Given the description of an element on the screen output the (x, y) to click on. 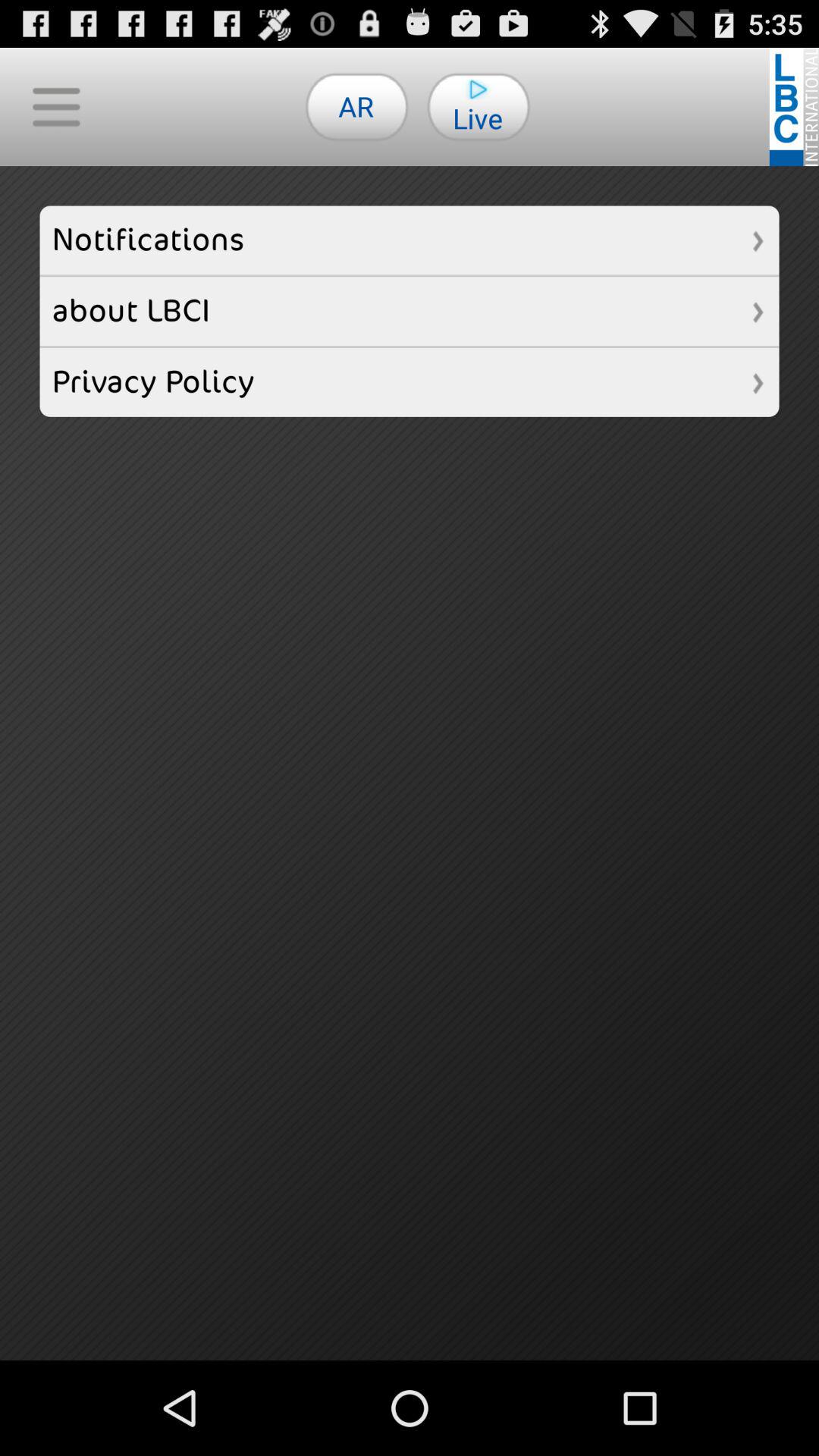
click the item to the left of the ar item (55, 106)
